Given the description of an element on the screen output the (x, y) to click on. 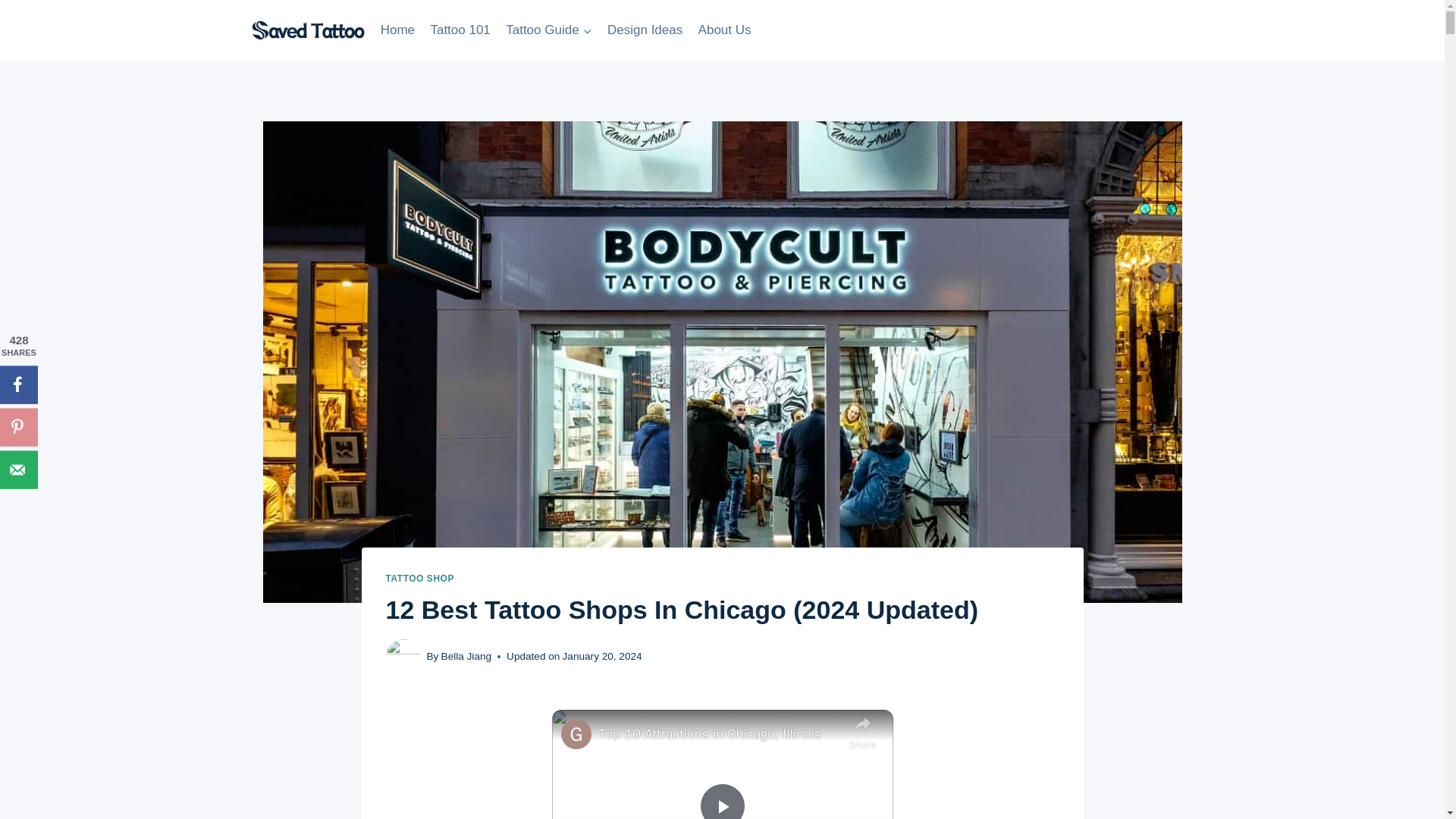
Play Video (721, 800)
About Us (724, 30)
TATTOO SHOP (418, 578)
Tattoo 101 (459, 30)
Top 10 Attractions in Chicago, Illinois (719, 734)
Tattoo Guide (548, 30)
Bella Jiang (466, 655)
Home (397, 30)
Play Video (721, 800)
Design Ideas (644, 30)
